Given the description of an element on the screen output the (x, y) to click on. 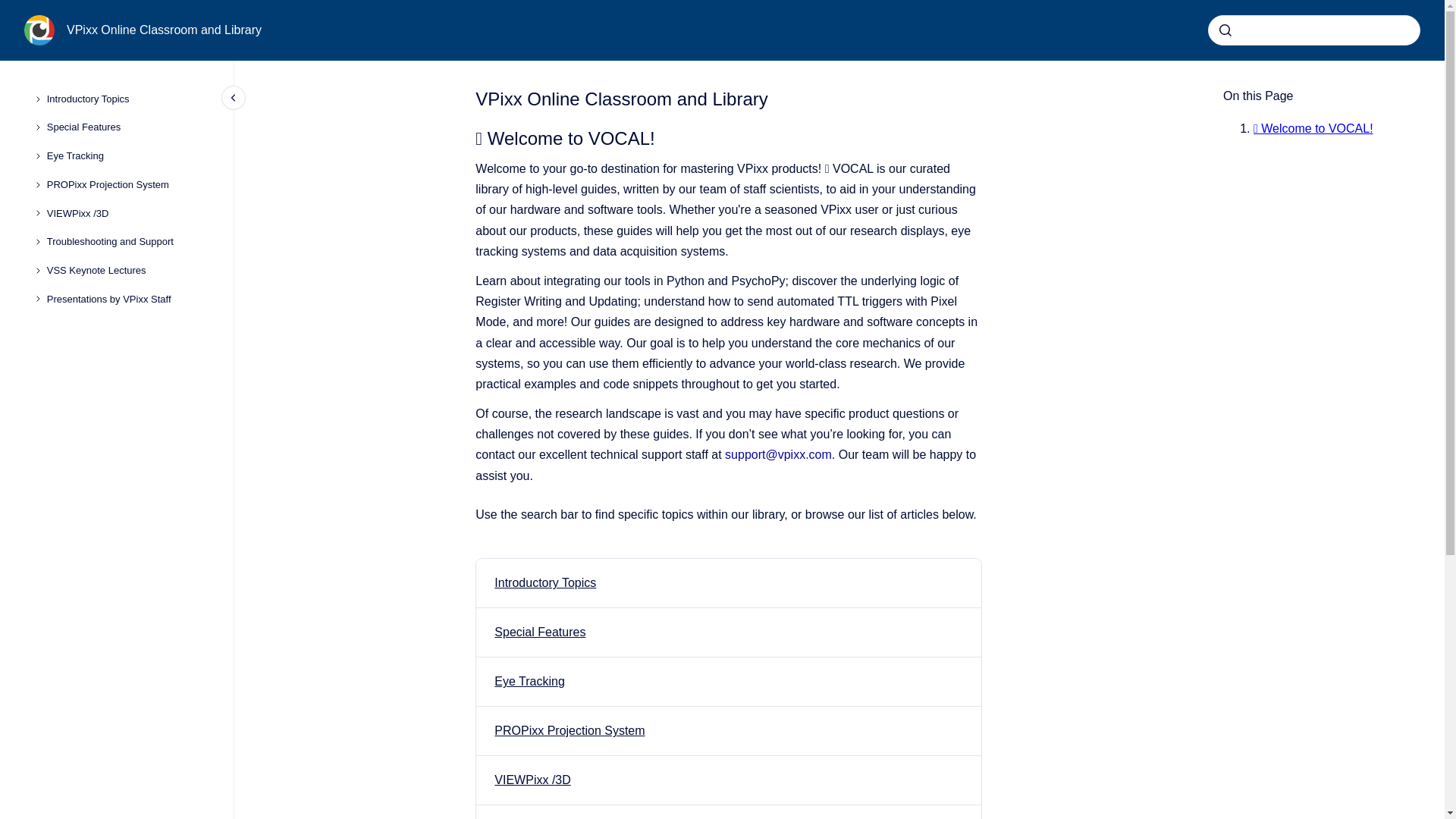
Special Features (540, 631)
Eye Tracking (529, 680)
Eye Tracking (529, 680)
VPixx Online Classroom and Library (164, 29)
PROPixx Projection System (570, 730)
Presentations by VPixx Staff (127, 298)
Go to homepage (39, 30)
PROPixx Projection System (570, 730)
VSS Keynote Lectures (127, 270)
Introductory Topics (545, 582)
Troubleshooting and Support (127, 241)
Special Features (127, 127)
PROPixx Projection System (127, 185)
Introductory Topics (545, 582)
